Given the description of an element on the screen output the (x, y) to click on. 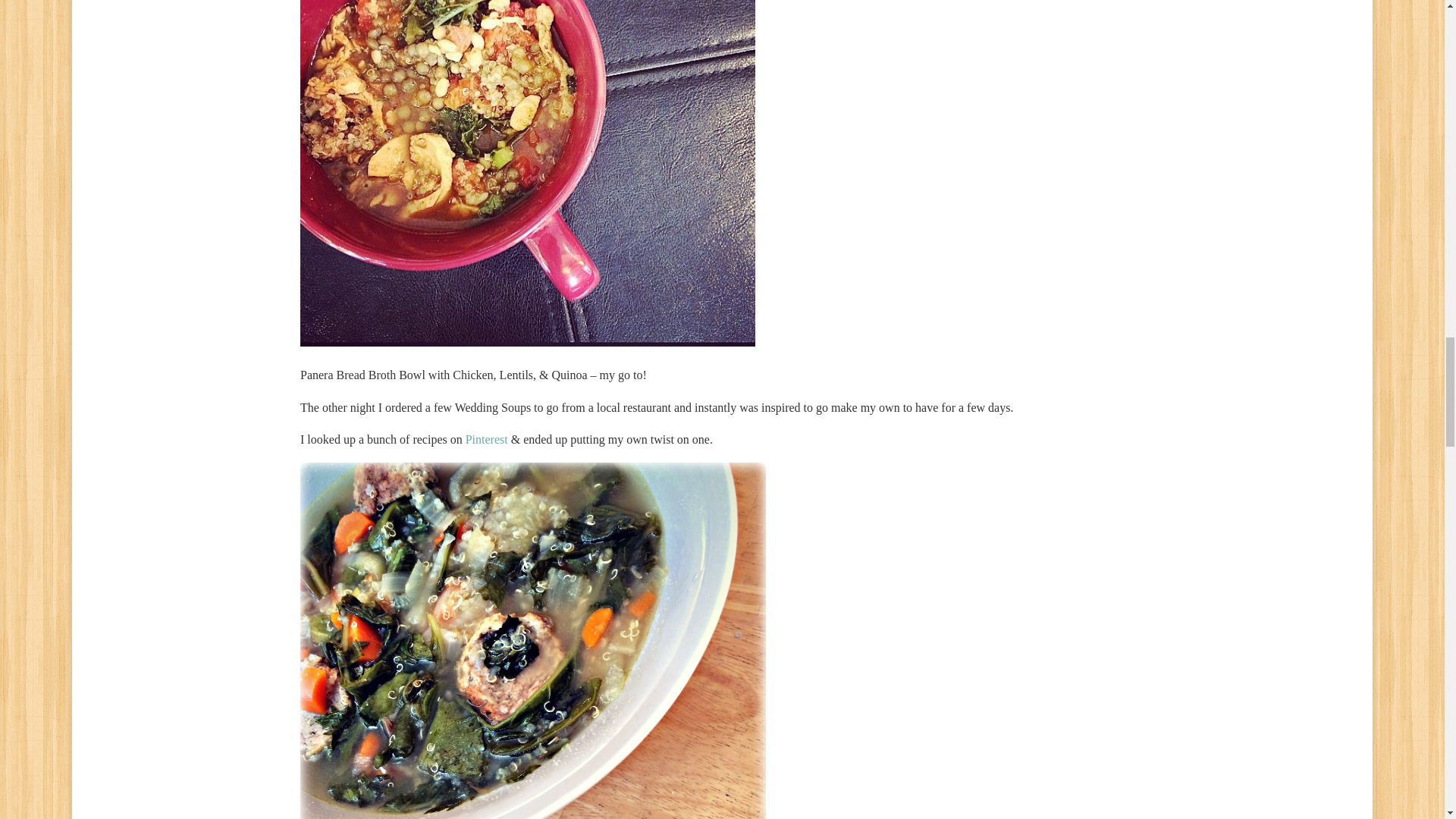
Pinterest (486, 439)
